Given the description of an element on the screen output the (x, y) to click on. 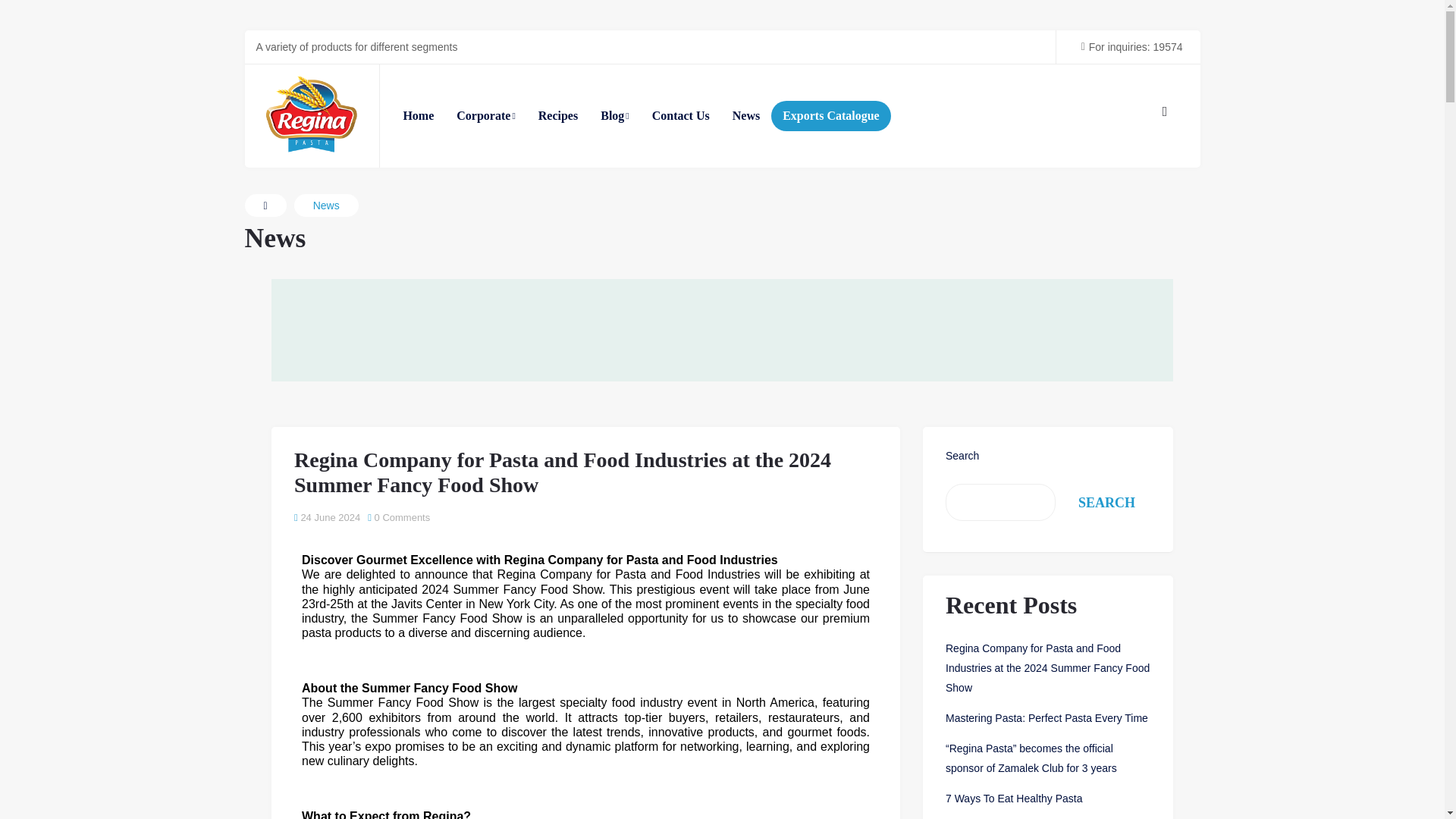
Go to Pasta Regina. (265, 205)
For inquiries: 19574 (1126, 46)
Home (418, 115)
